Given the description of an element on the screen output the (x, y) to click on. 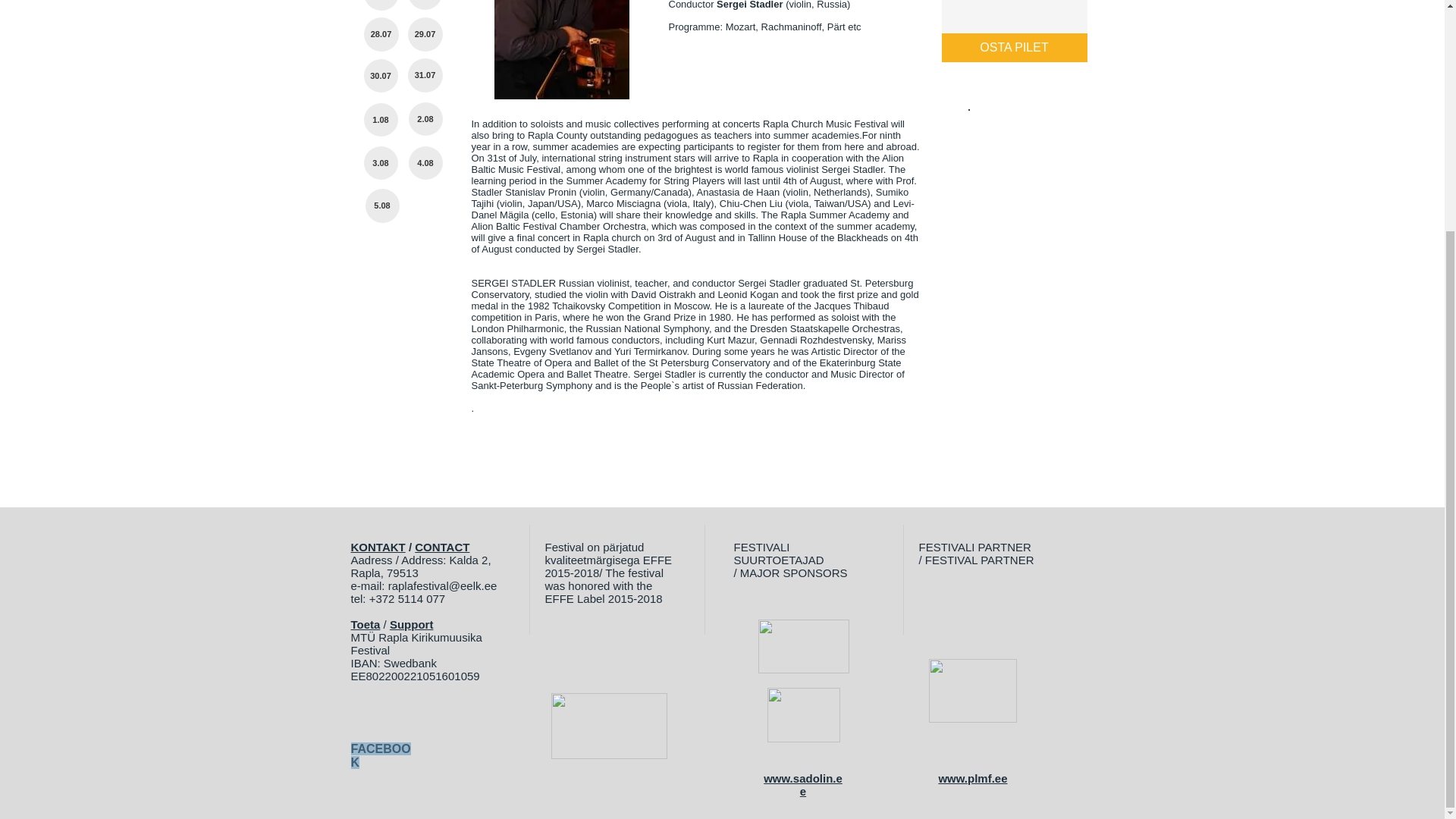
1.08 (380, 119)
5.08 (381, 205)
28.07 (381, 34)
4.08 (424, 162)
KONTAKT (377, 546)
FACEBOOK (380, 755)
30.07 (380, 75)
3.08 (380, 162)
CONTACT (441, 546)
29.07 (424, 34)
OSTA PILET (1014, 47)
31.07 (424, 75)
2.08 (424, 118)
26.07 (381, 5)
27.07 (424, 4)
